Given the description of an element on the screen output the (x, y) to click on. 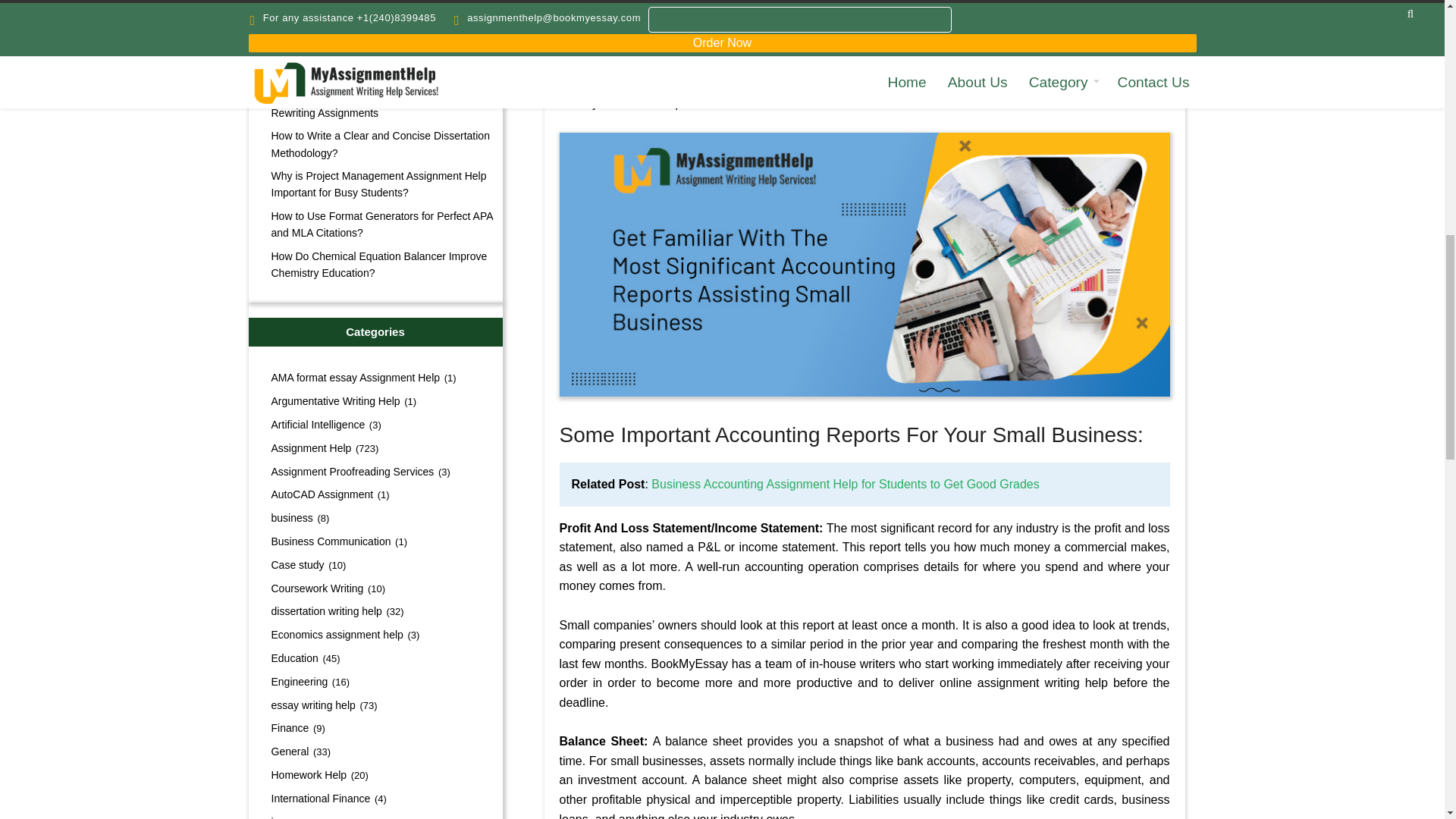
Artificial Intelligence (311, 424)
Assignment Proofreading Services (345, 471)
business (285, 517)
Business Communication (324, 541)
How to Write a Clear and Concise Dissertation Methodology? (375, 144)
Argumentative Writing Help (328, 400)
Assignment Help (304, 448)
Case study (291, 564)
AMA format essay Assignment Help (349, 377)
Coursework Writing (310, 588)
AutoCAD Assignment (315, 494)
